Given the description of an element on the screen output the (x, y) to click on. 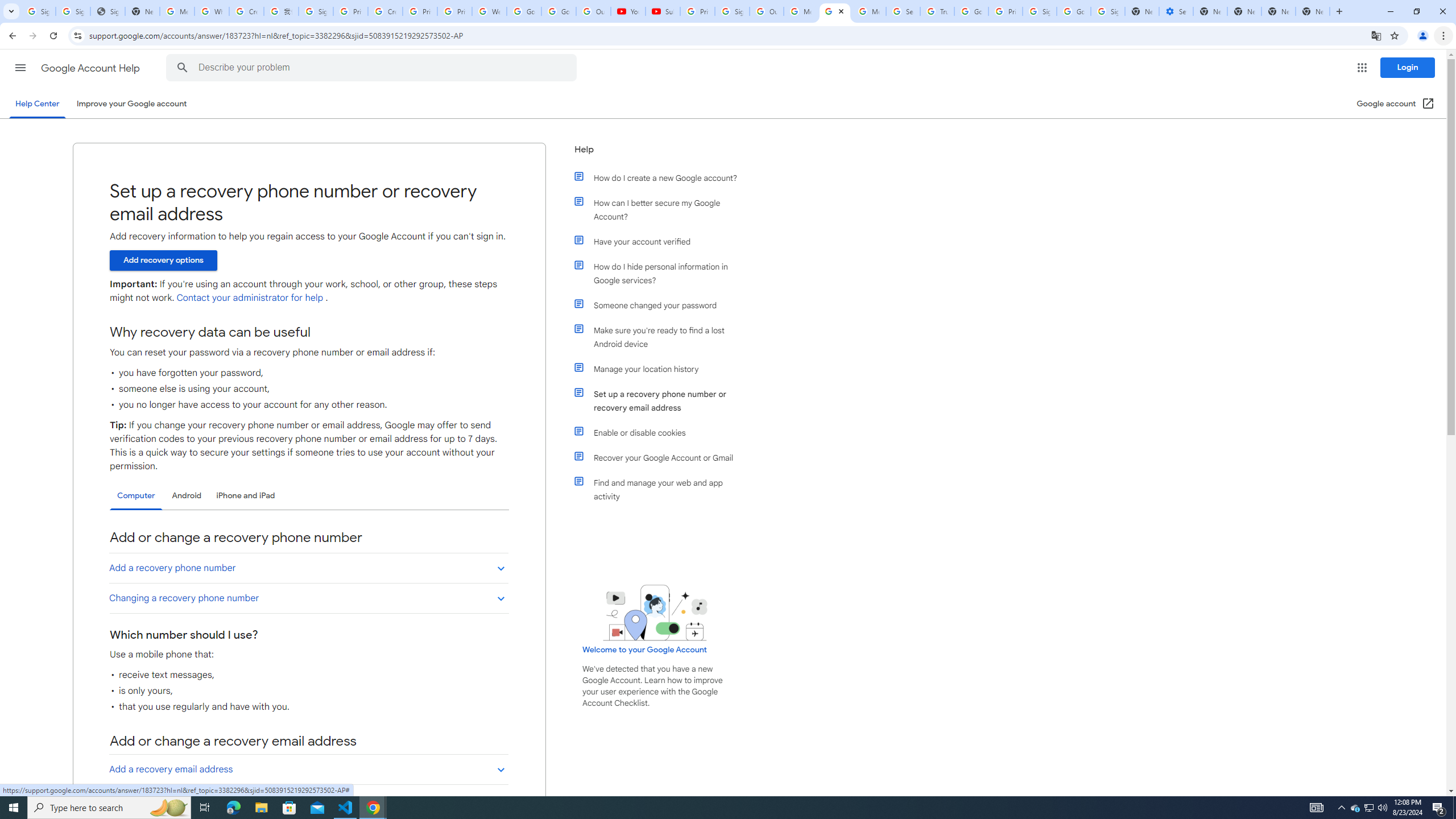
Welcome to My Activity (489, 11)
Login (1407, 67)
Google Ads - Sign in (970, 11)
Computer (136, 496)
Set up a recovery phone number or recovery email address (661, 400)
Translate this page (1376, 35)
Add a recovery phone number (308, 567)
Contact your administrator for help (249, 297)
Describe your problem (373, 67)
Changing a recovery phone number (308, 598)
